Given the description of an element on the screen output the (x, y) to click on. 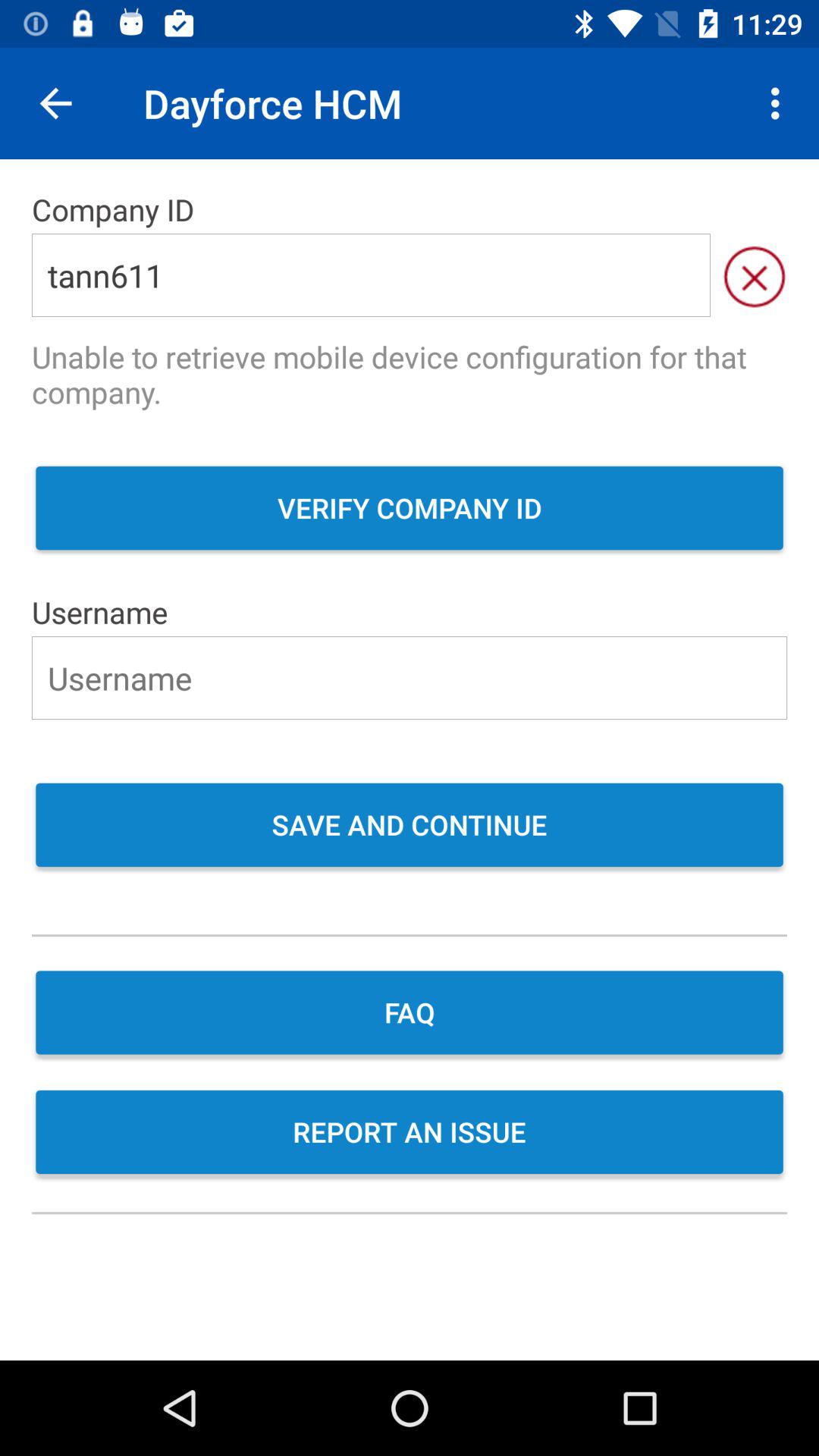
turn on the item to the right of the dayforce hcm (779, 103)
